Given the description of an element on the screen output the (x, y) to click on. 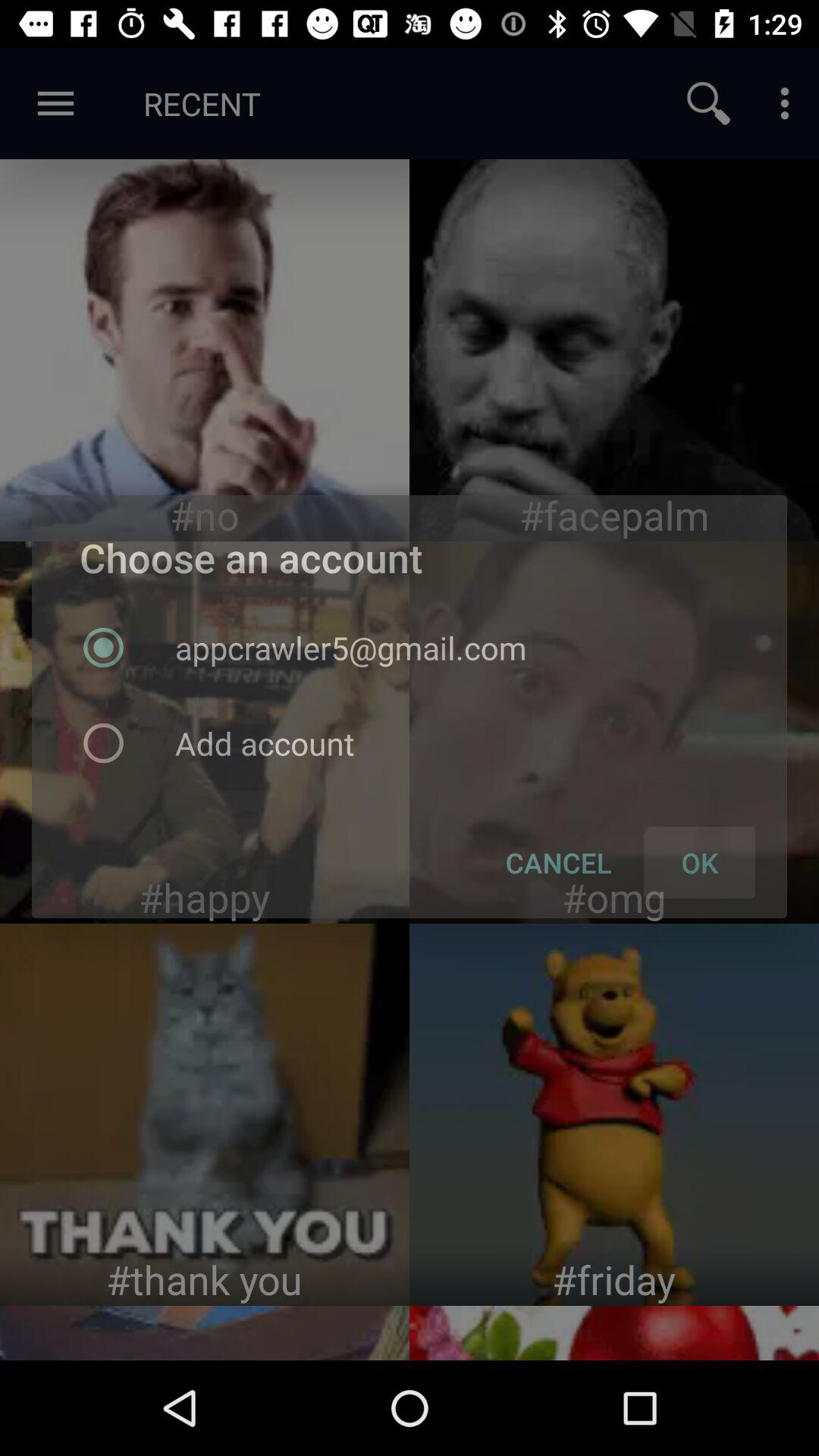
no (204, 350)
